Given the description of an element on the screen output the (x, y) to click on. 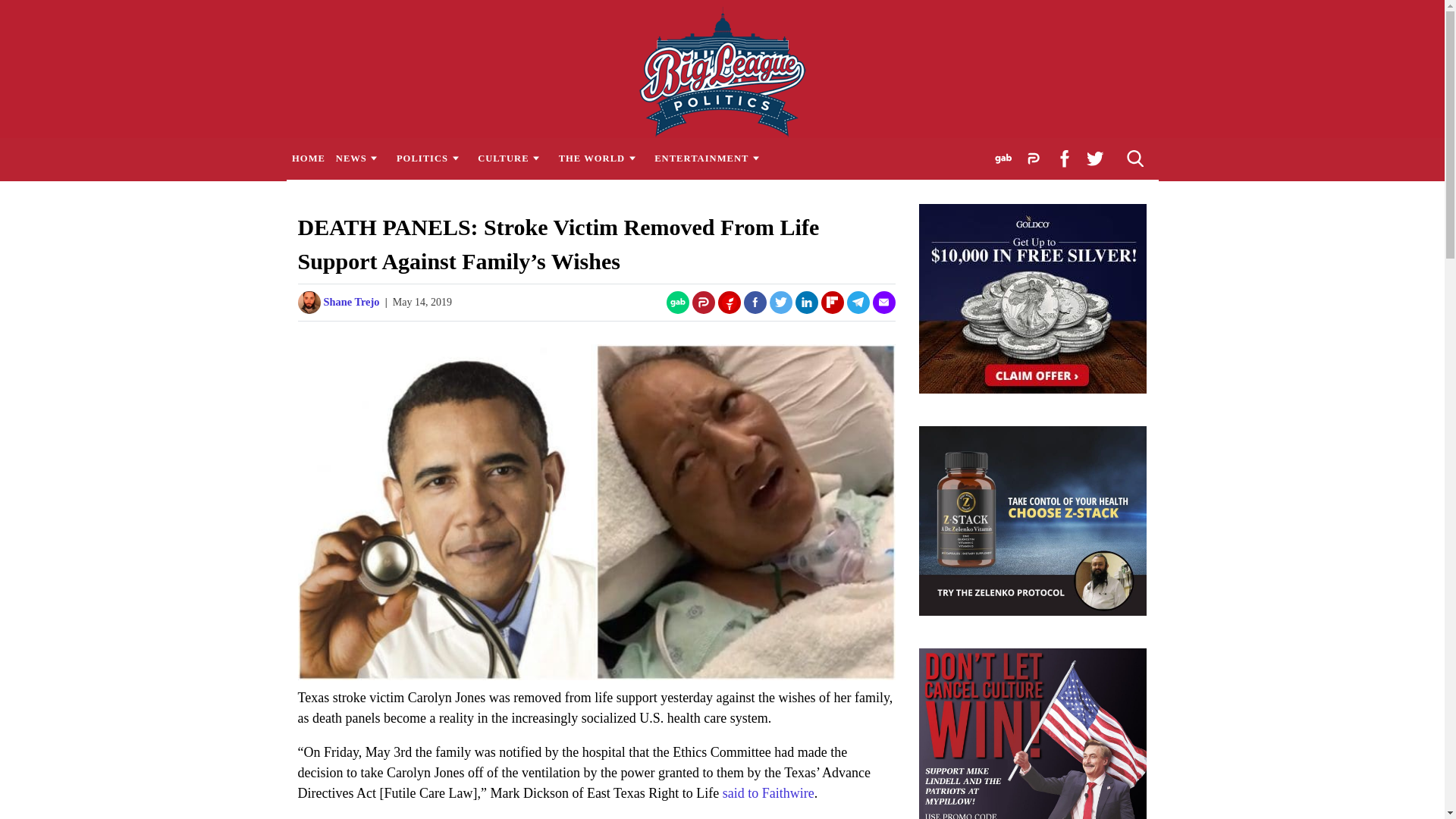
POLITICS (430, 158)
CULTURE (512, 158)
THE WORLD (601, 158)
Posts by Shane Trejo (350, 302)
ENTERTAINMENT (711, 158)
NEWS (360, 158)
HOME (308, 158)
